Given the description of an element on the screen output the (x, y) to click on. 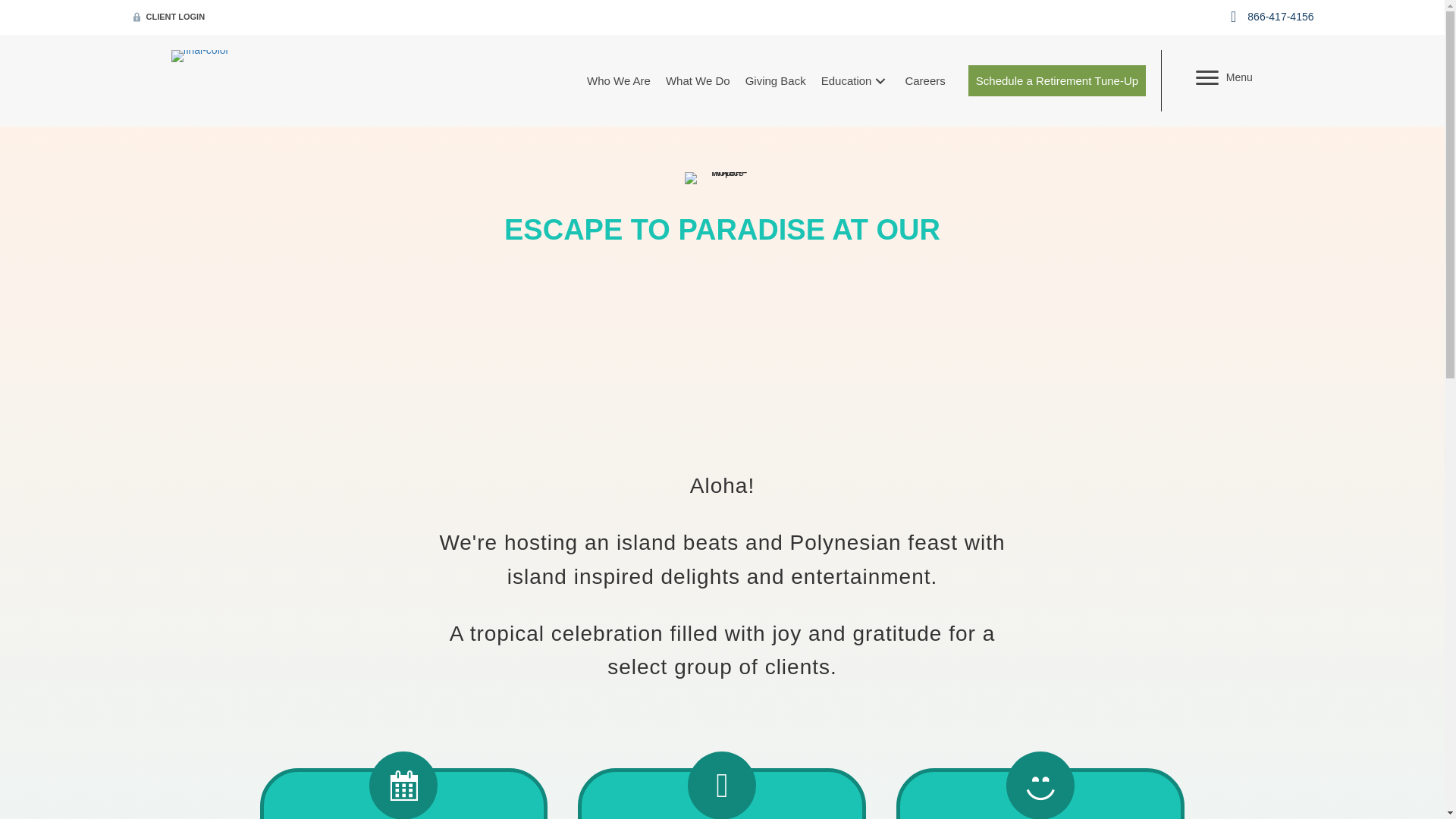
final-color (200, 55)
Who We Are (618, 80)
WASF-Tropics-Invert (722, 177)
Education (855, 80)
Schedule a Retirement Tune-Up (1056, 80)
Careers (924, 80)
Menu (1224, 77)
What We Do (698, 80)
Giving Back (775, 80)
866-417-4156 (1280, 16)
